Given the description of an element on the screen output the (x, y) to click on. 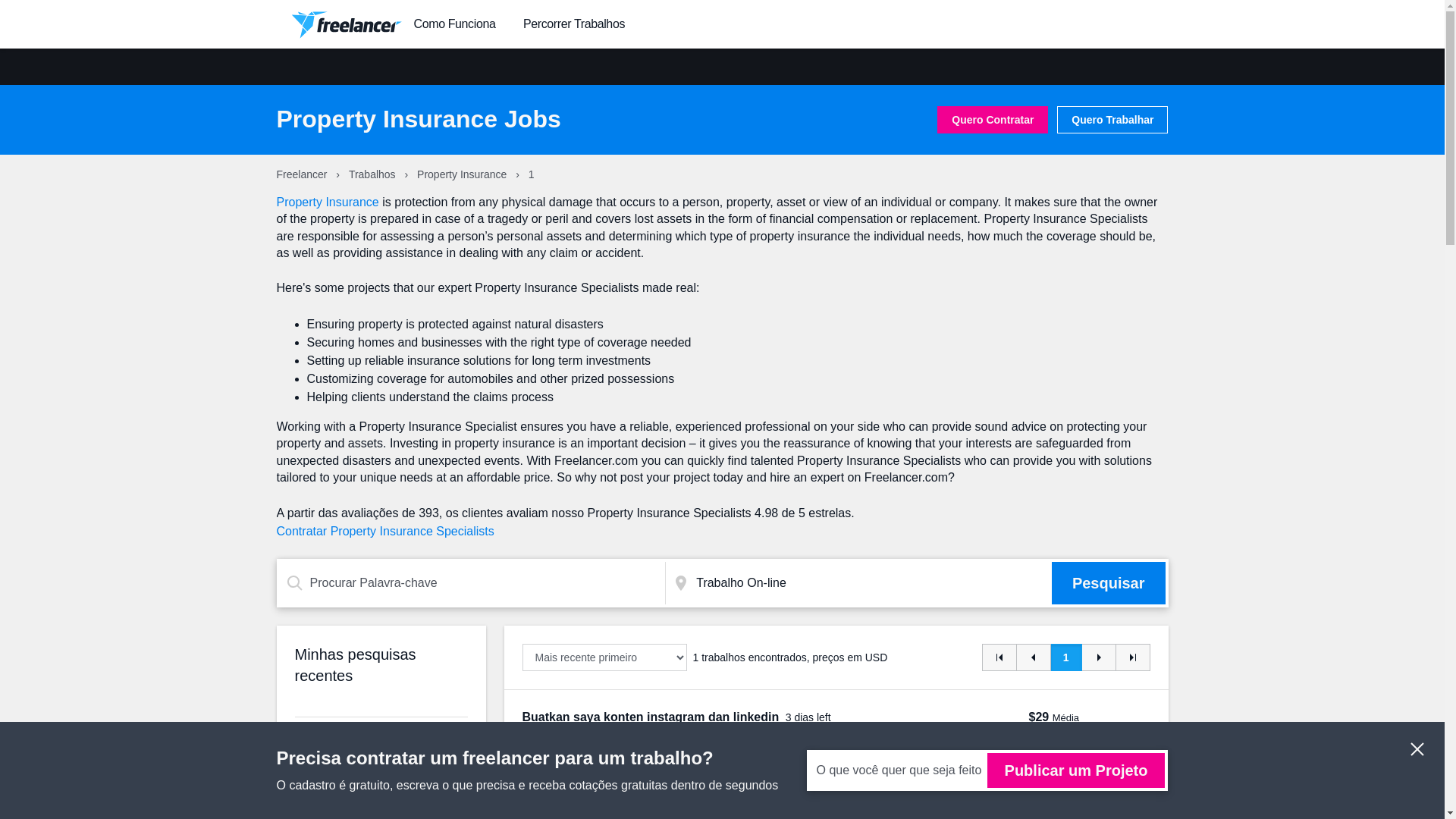
Contratar Property Insurance Specialists (384, 530)
Seguros (620, 787)
Property Insurance (462, 174)
Quero Trabalhar (1112, 119)
Social Media Post Design (940, 787)
Property Insurance (694, 787)
1 (1066, 656)
Como Funciona (454, 24)
Freelancer (303, 174)
Quero Contratar (992, 119)
Trabalho On-line (870, 582)
Trabalhos (373, 174)
Buatkan saya konten instagram dan linkedin (651, 716)
Pesquisar (1108, 582)
Percorrer Trabalhos (573, 24)
